Given the description of an element on the screen output the (x, y) to click on. 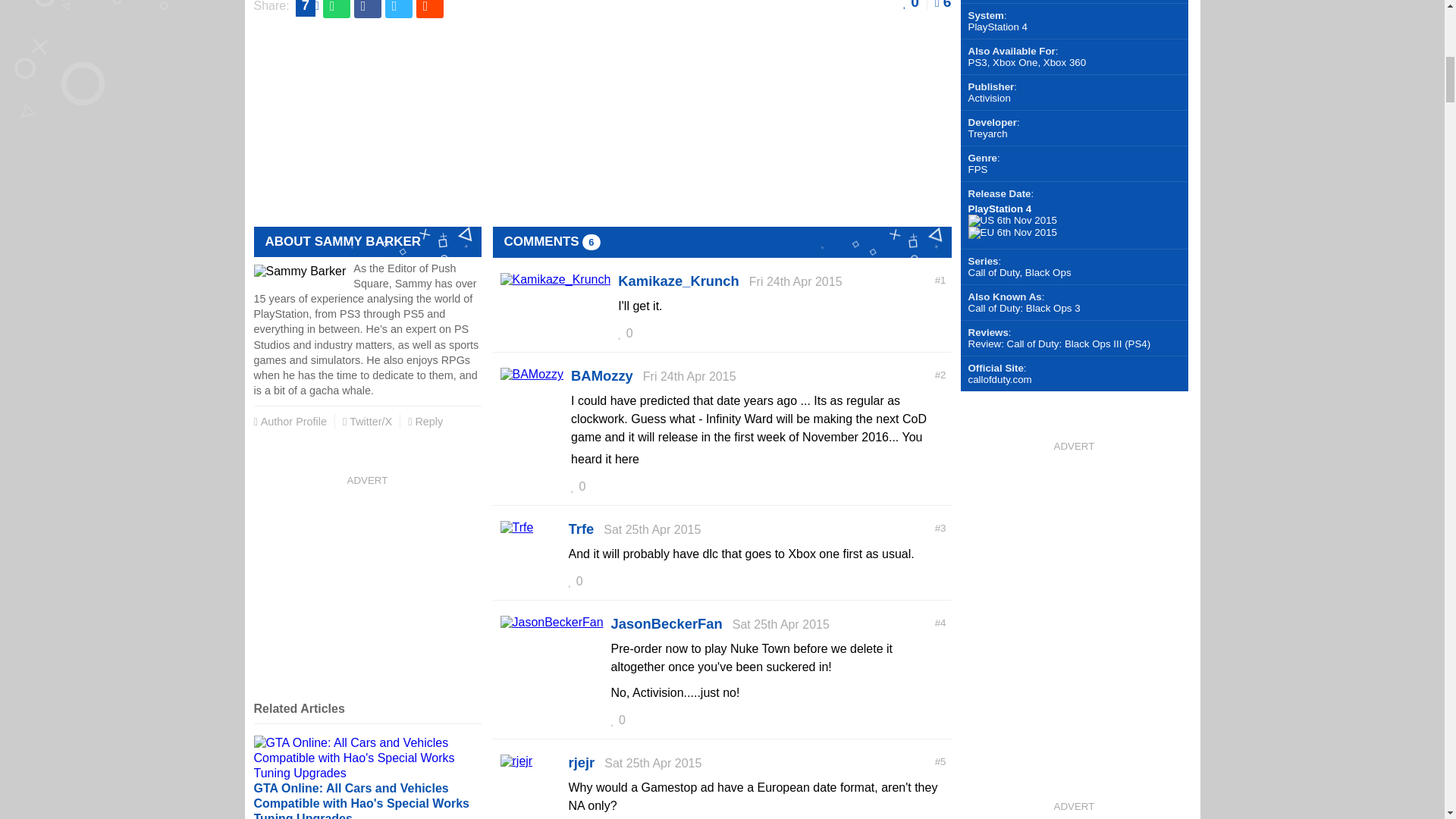
Share this on WhatsApp (336, 9)
